Given the description of an element on the screen output the (x, y) to click on. 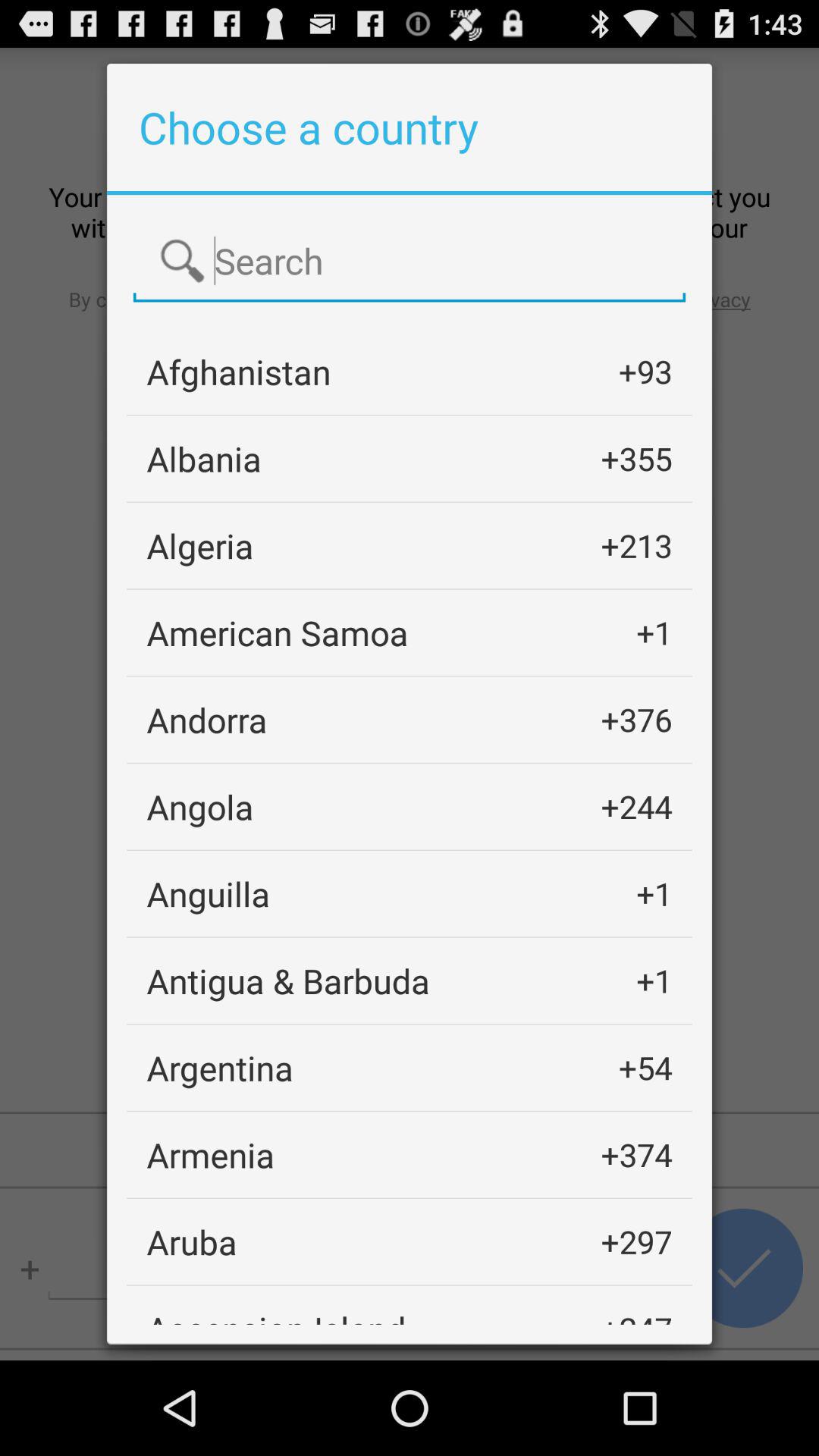
press +244 app (636, 806)
